Given the description of an element on the screen output the (x, y) to click on. 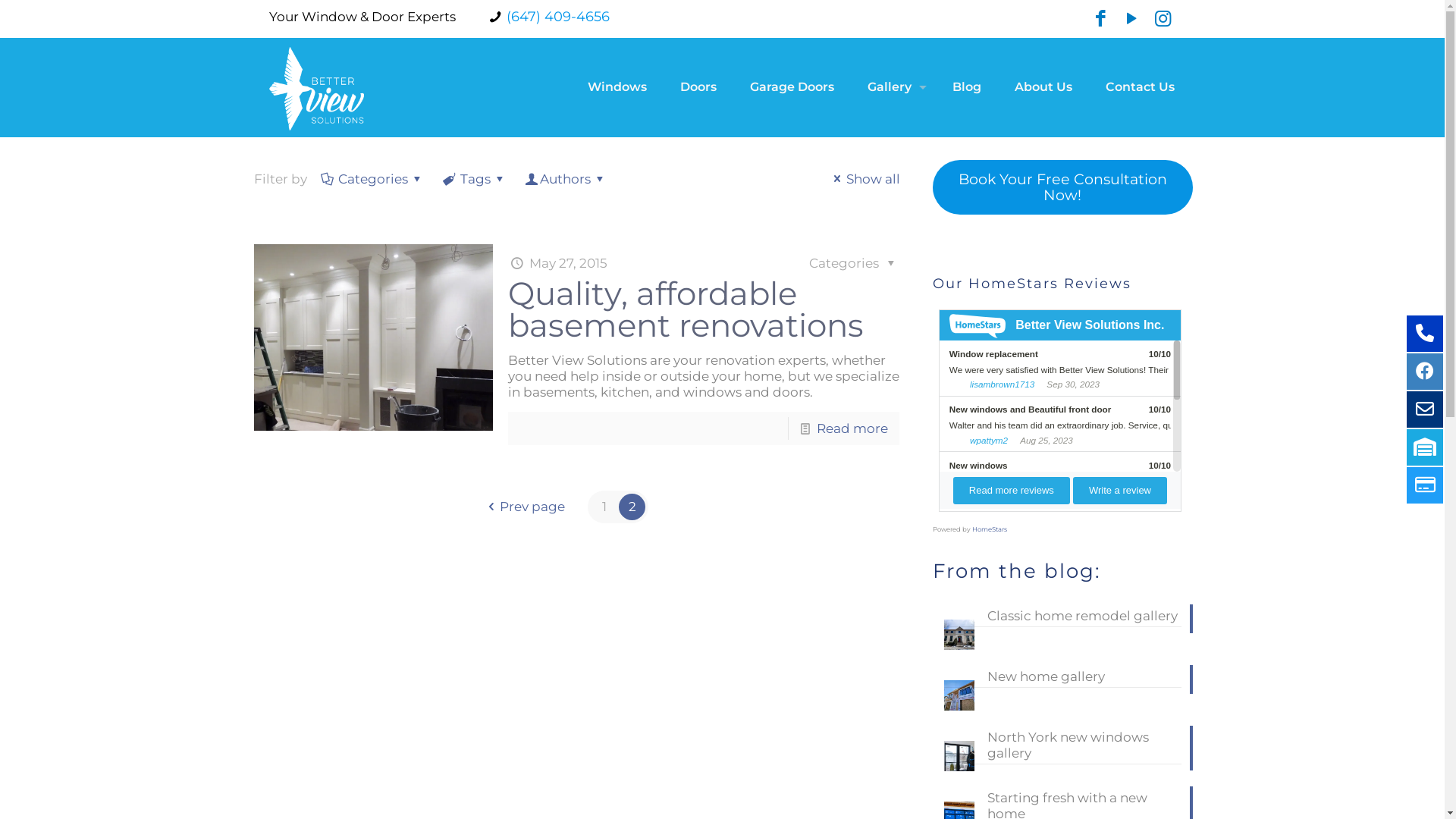
Gallery Element type: text (893, 87)
Prev page Element type: text (523, 506)
Categories Element type: text (373, 178)
Windows Element type: text (616, 87)
Authors Element type: text (565, 178)
About Us Element type: text (1043, 87)
Contact Us Element type: text (1139, 87)
Show all Element type: text (864, 178)
Garage Doors Element type: text (791, 87)
Instagram Element type: hover (1162, 17)
HomeStars Element type: text (989, 528)
Doors Element type: text (697, 87)
YouTube Element type: hover (1130, 17)
Classic home remodel gallery Element type: text (1061, 617)
North York new windows gallery Element type: text (1061, 746)
Blog Element type: text (966, 87)
Book Your Free Consultation Now! Element type: text (1062, 187)
2 Element type: text (631, 506)
Quality, affordable basement renovations Element type: text (685, 309)
From the blog: Element type: text (1016, 570)
Tags Element type: text (475, 178)
(647) 409-4656 Element type: text (557, 16)
Read more Element type: text (852, 428)
Facebook Element type: hover (1100, 17)
New home gallery Element type: text (1061, 677)
Better View Solutions Element type: hover (316, 86)
1 Element type: text (603, 506)
